Given the description of an element on the screen output the (x, y) to click on. 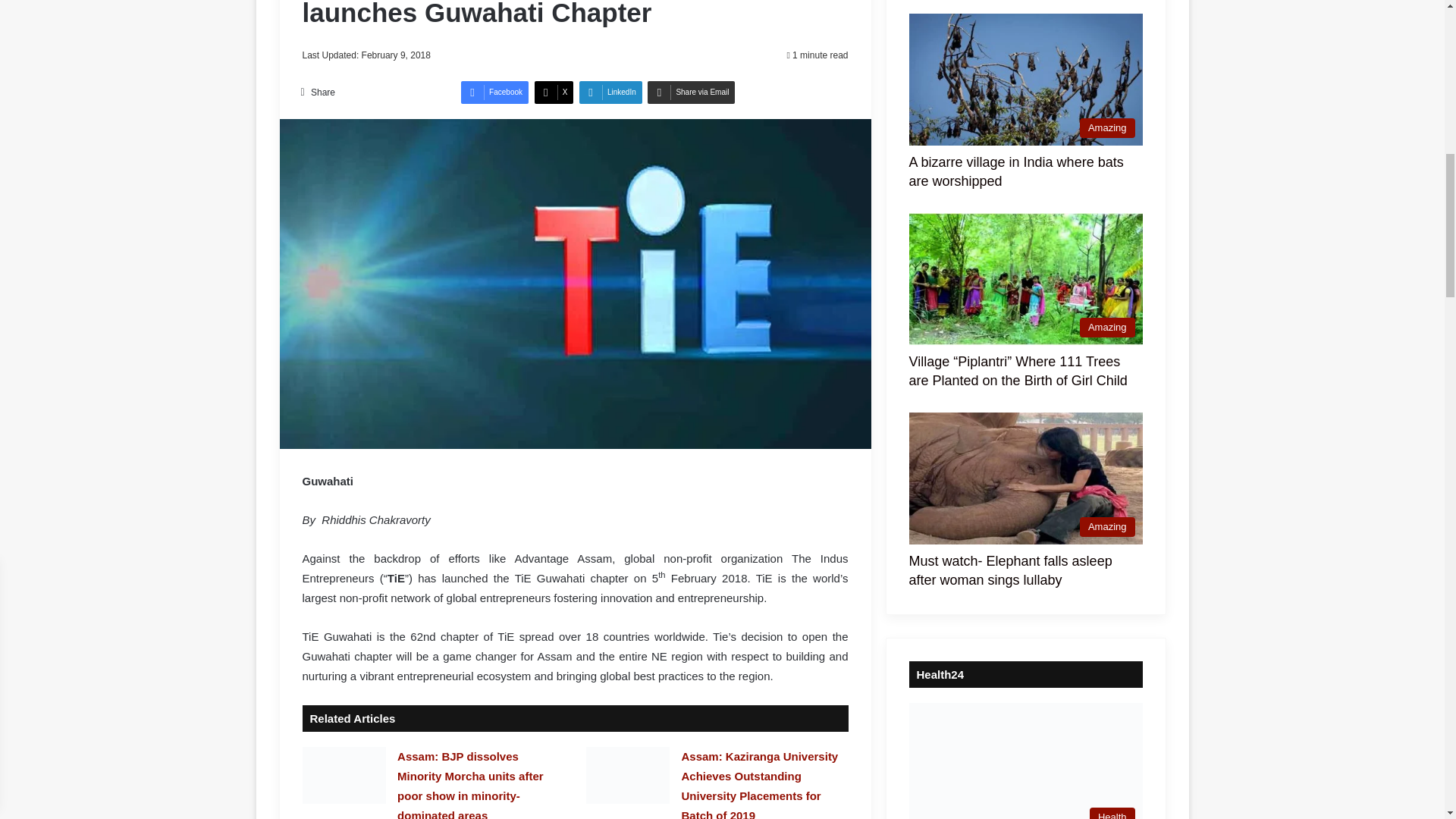
X (553, 92)
X (553, 92)
LinkedIn (610, 92)
LinkedIn (610, 92)
Share via Email (691, 92)
Facebook (494, 92)
Facebook (494, 92)
Share via Email (691, 92)
